Given the description of an element on the screen output the (x, y) to click on. 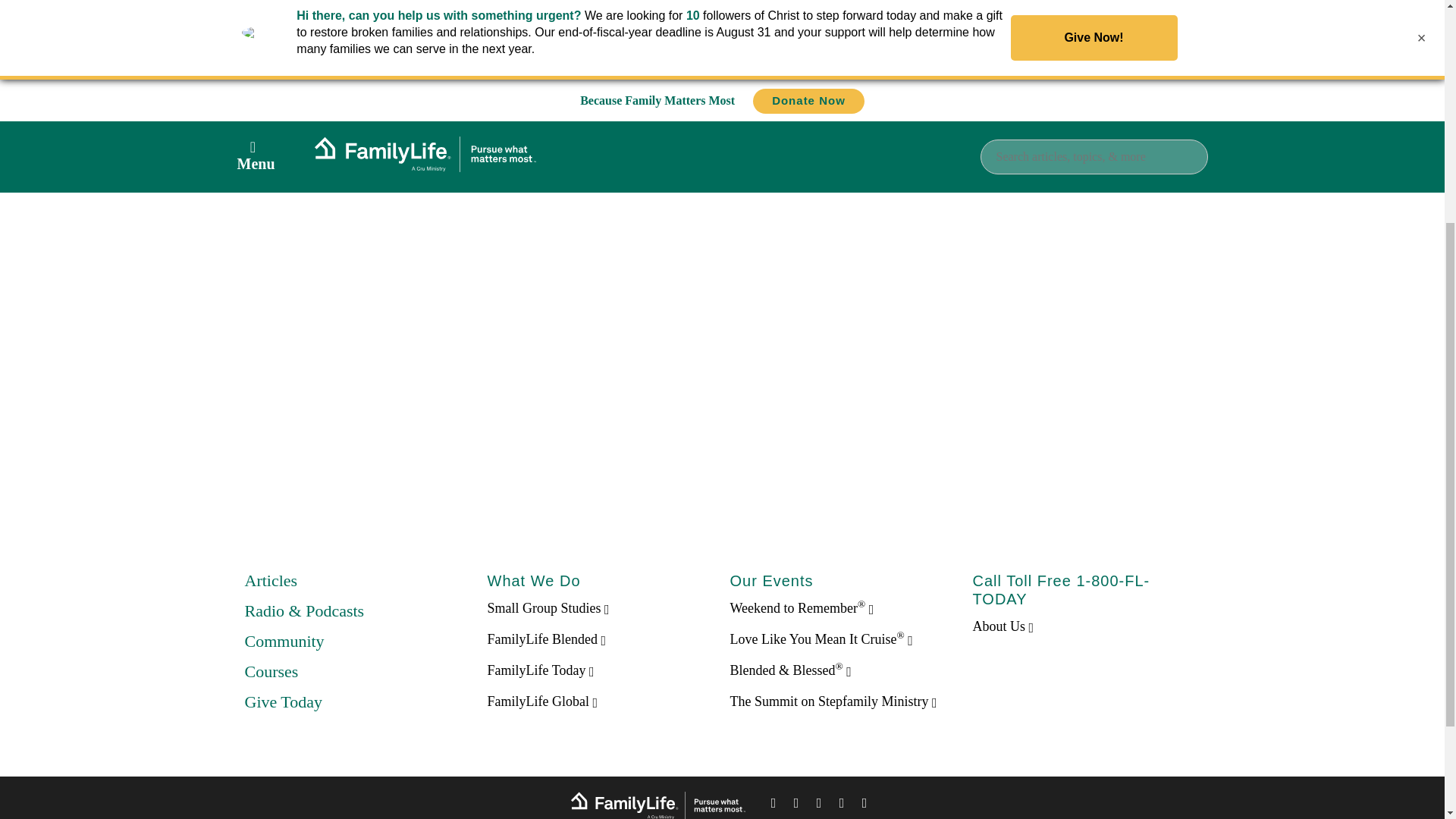
Facebook (773, 805)
Give Today (282, 701)
Community (283, 640)
The Summit on Stepfamily Ministry (832, 701)
FamilyLife Today (540, 670)
Instagram (841, 805)
Small Group Studies (547, 607)
Youtube (865, 805)
Courses (271, 670)
Articles (270, 579)
